Given the description of an element on the screen output the (x, y) to click on. 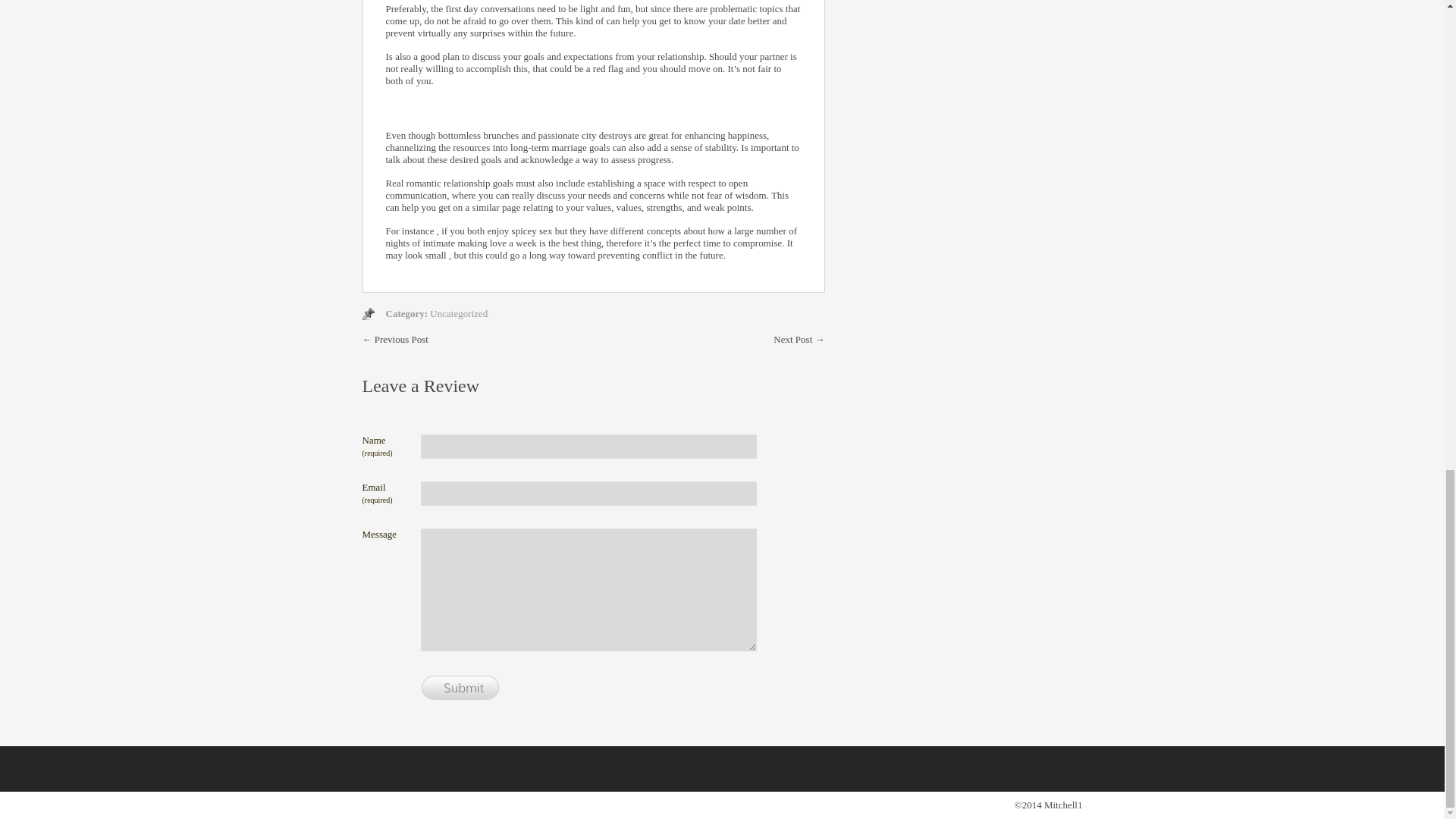
Submit (459, 688)
Submit (459, 688)
Uncategorized (458, 313)
